Given the description of an element on the screen output the (x, y) to click on. 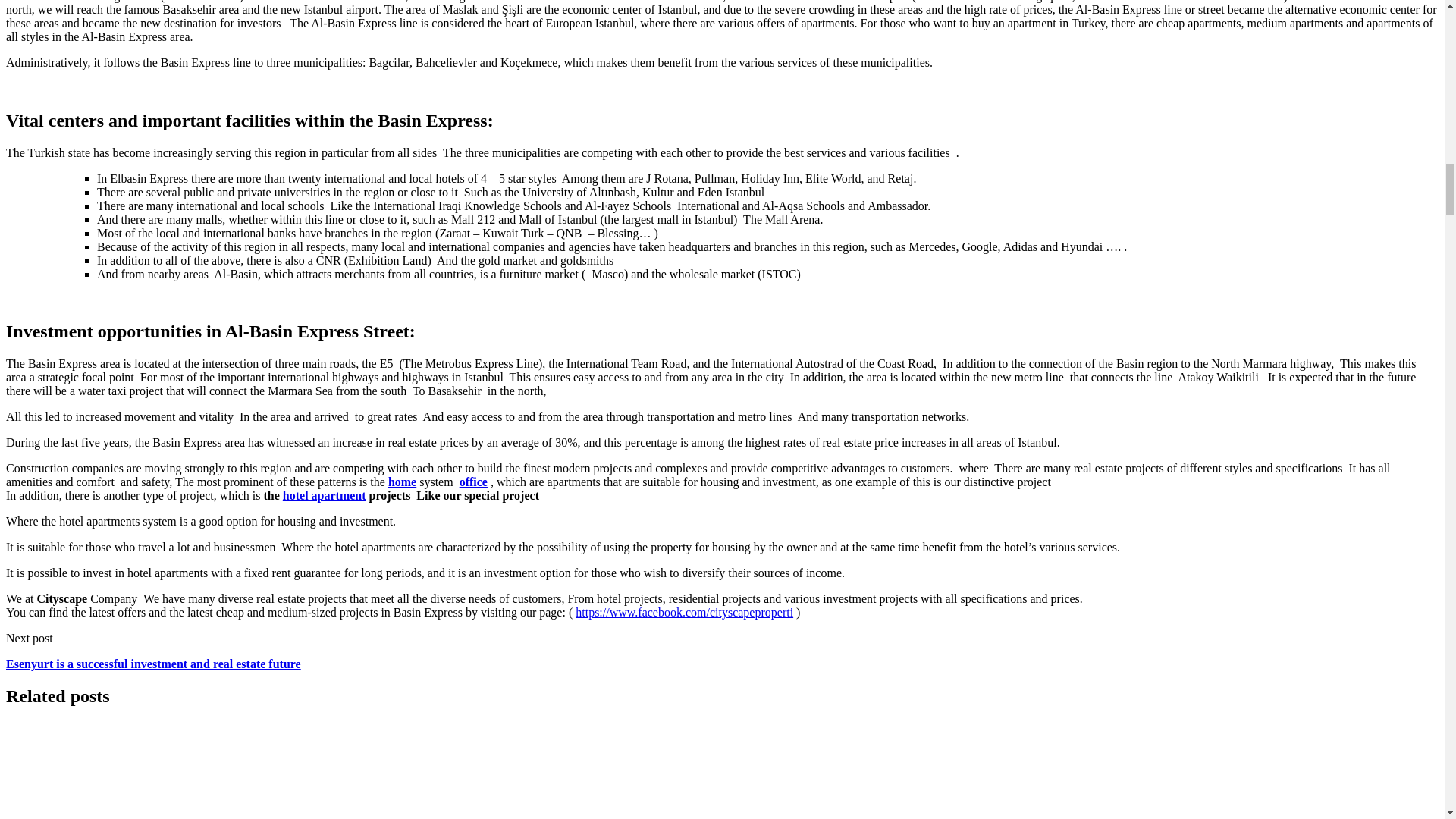
hotel apartment (324, 495)
Esenyurt is a successful investment and real estate future (153, 663)
home (402, 481)
office (473, 481)
